Given the description of an element on the screen output the (x, y) to click on. 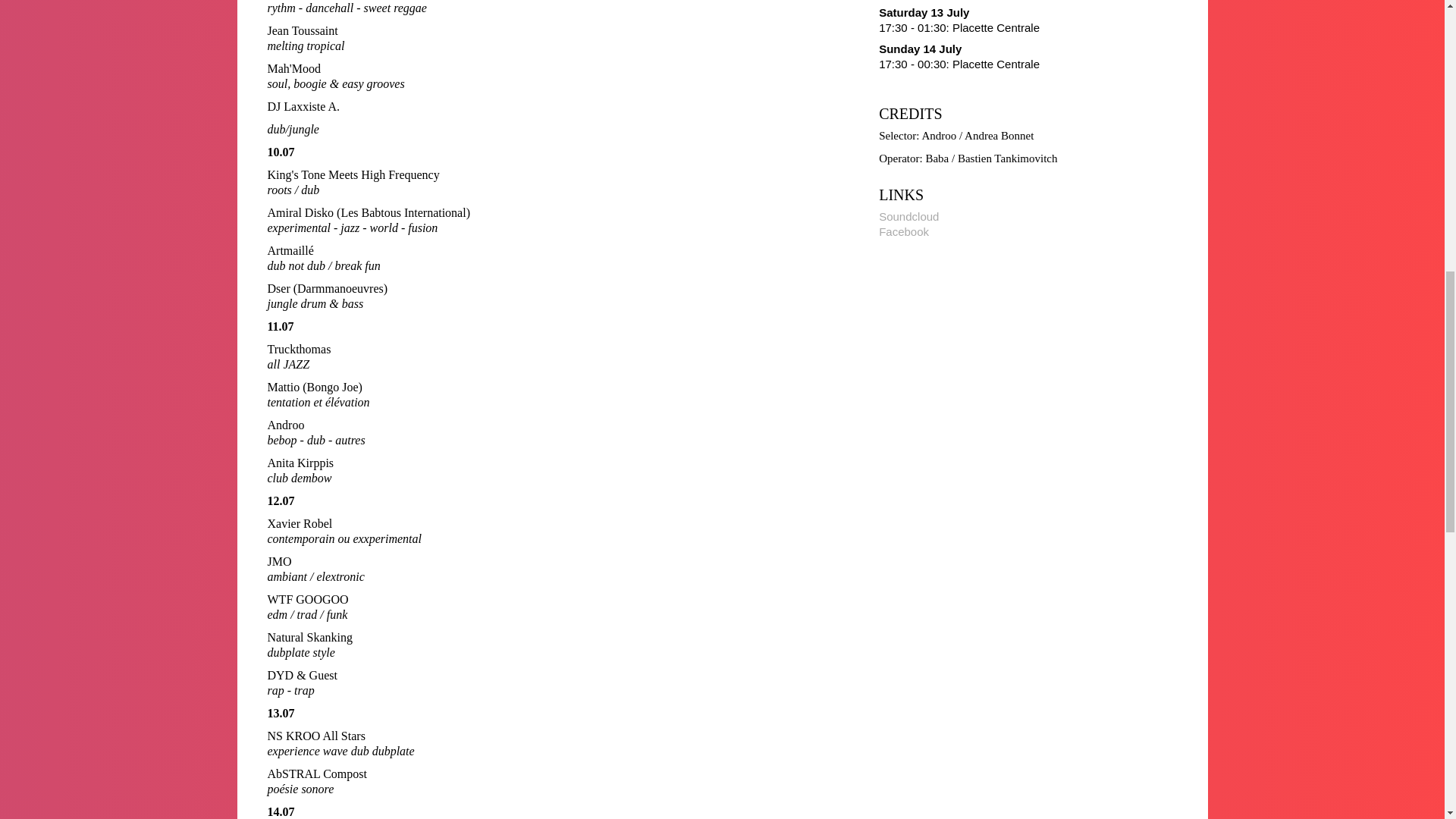
Soundcloud (909, 215)
Facebook (903, 231)
